Given the description of an element on the screen output the (x, y) to click on. 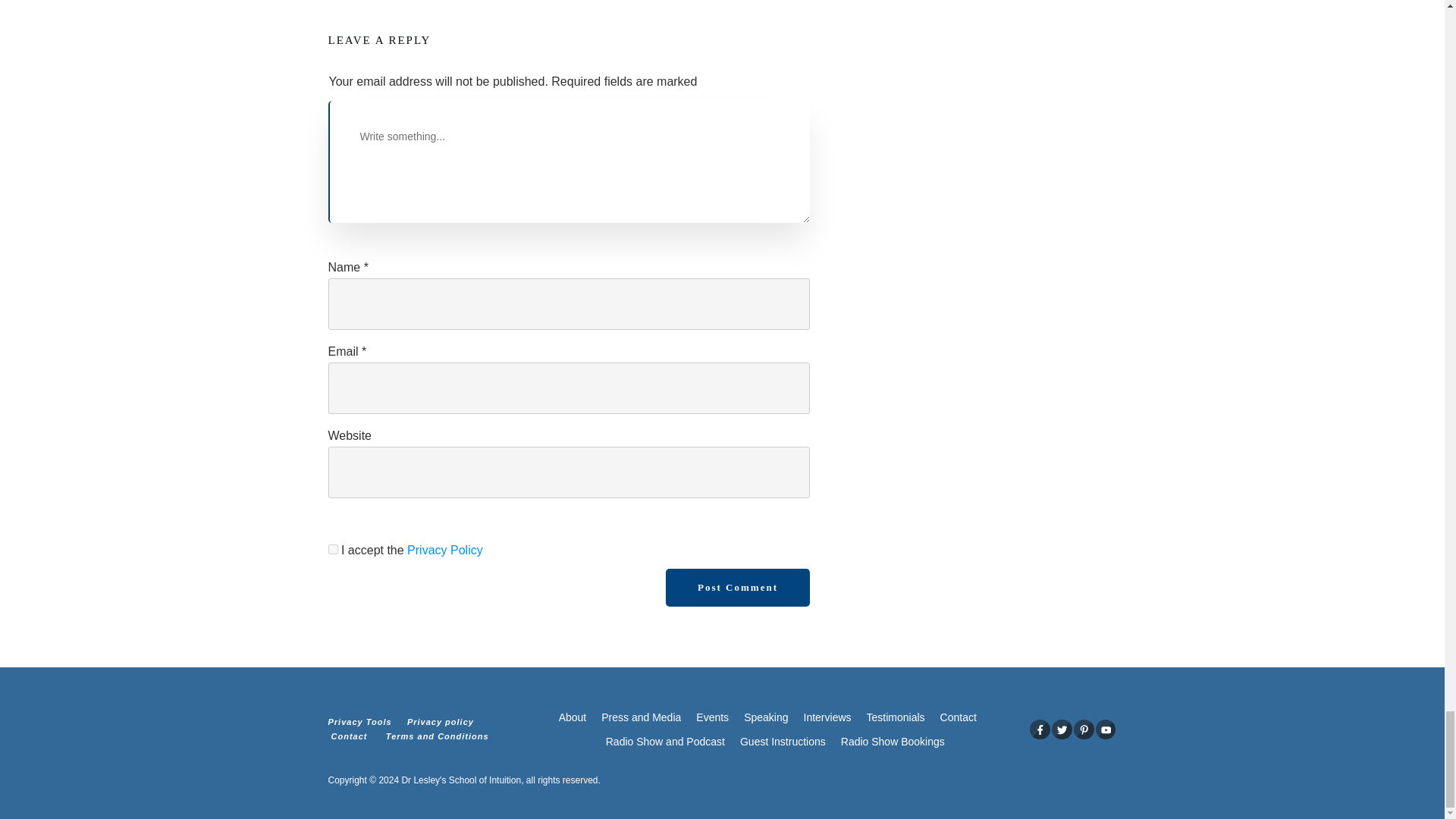
1 (332, 549)
